Given the description of an element on the screen output the (x, y) to click on. 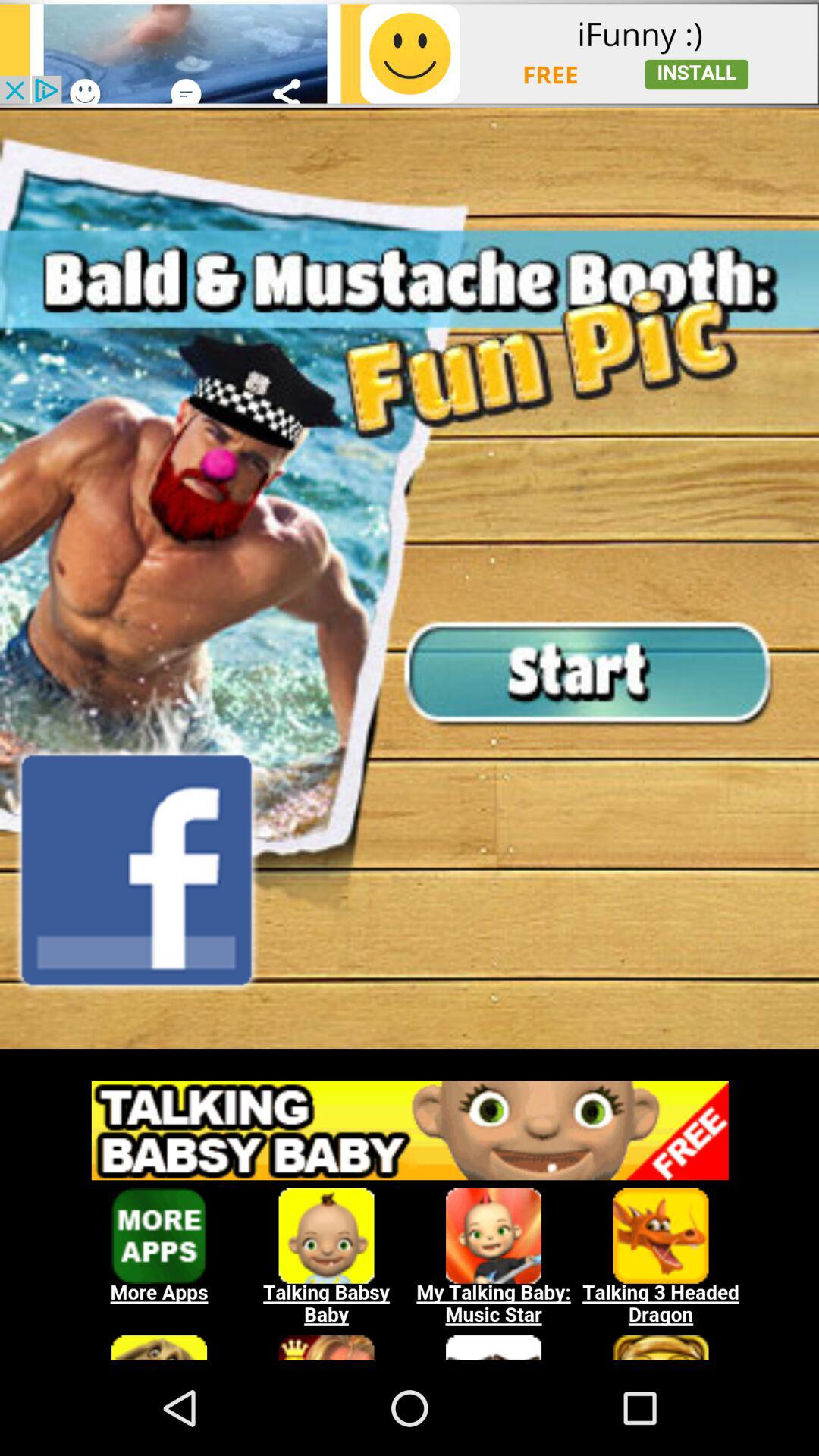
share on facebook (136, 869)
